Given the description of an element on the screen output the (x, y) to click on. 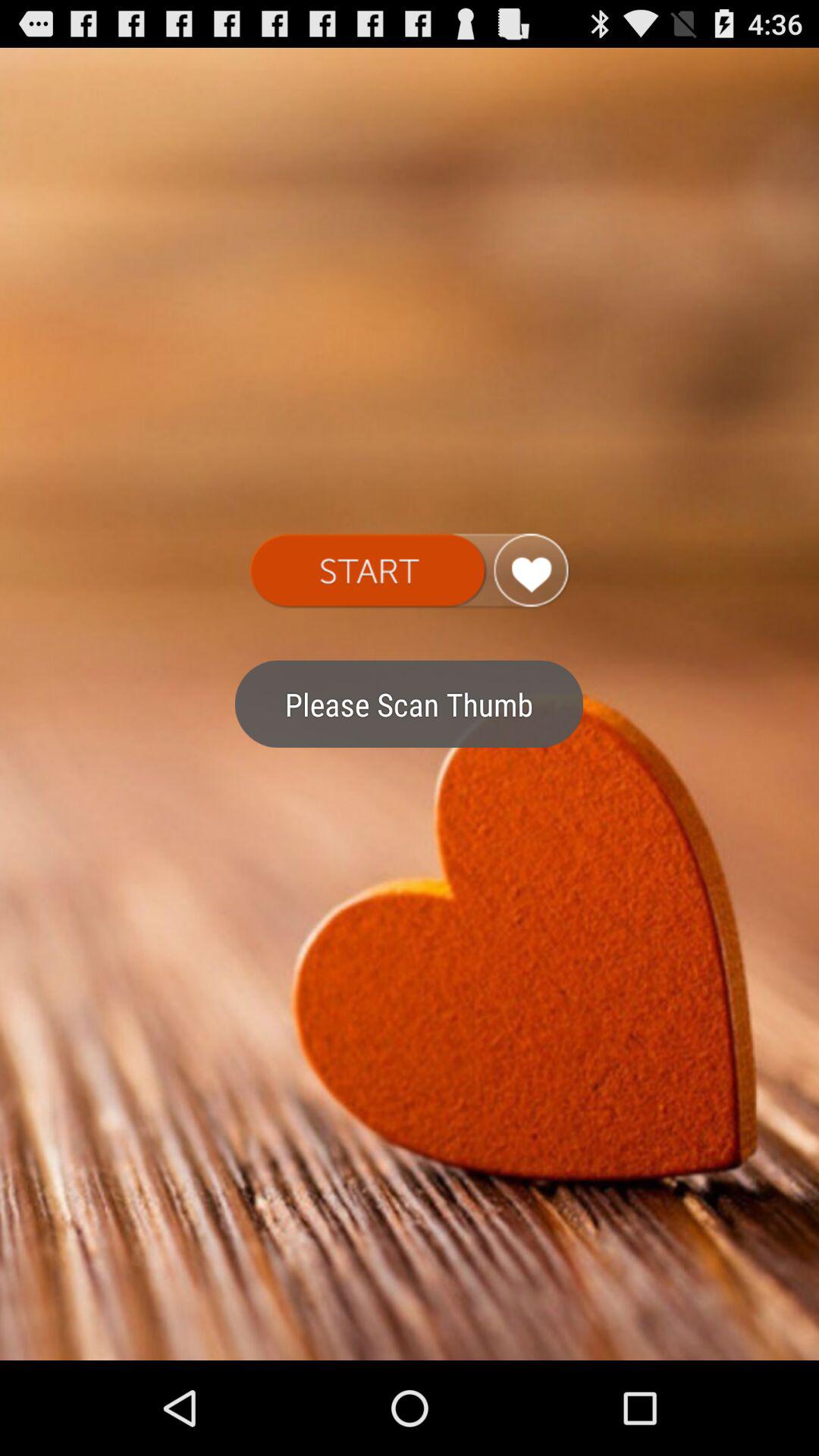
start button (408, 571)
